Given the description of an element on the screen output the (x, y) to click on. 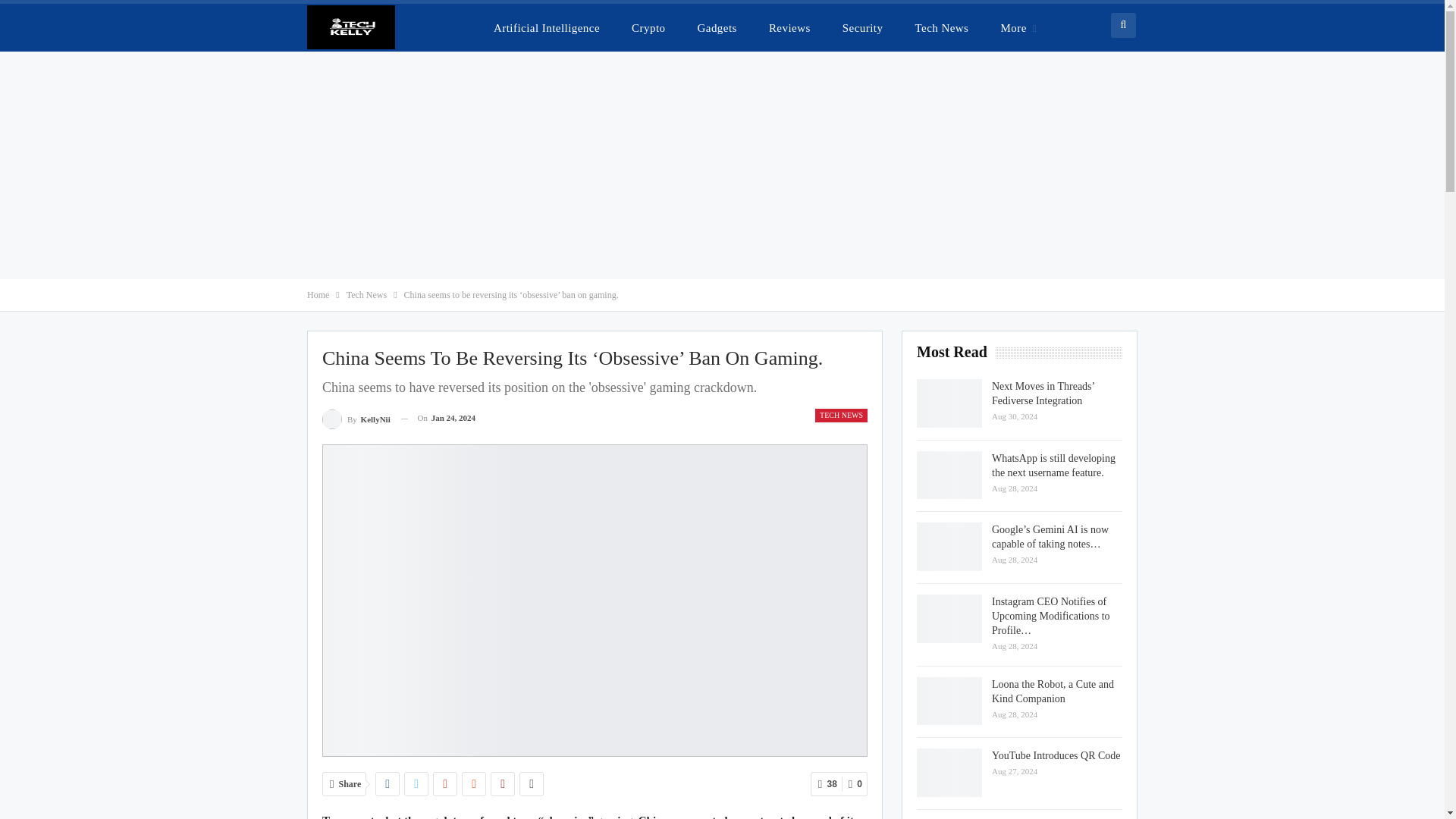
Home (318, 294)
Reviews (789, 27)
Security (862, 27)
More (1018, 27)
Artificial Intelligence (546, 27)
By KellyNii (355, 417)
TECH NEWS (841, 415)
0 (854, 784)
Browse Author Articles (355, 417)
Crypto (648, 27)
